Given the description of an element on the screen output the (x, y) to click on. 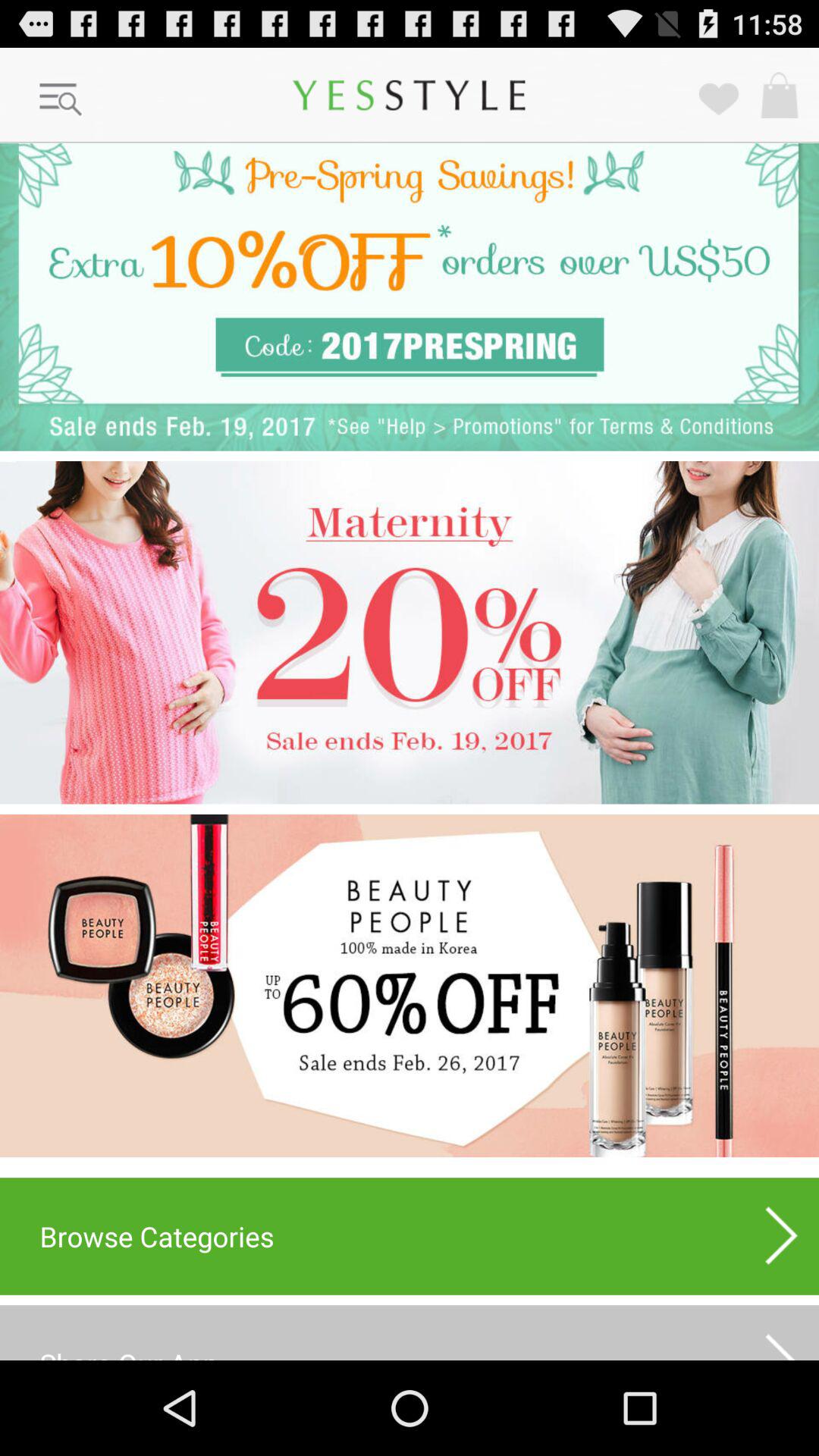
go to the store website (409, 985)
